Given the description of an element on the screen output the (x, y) to click on. 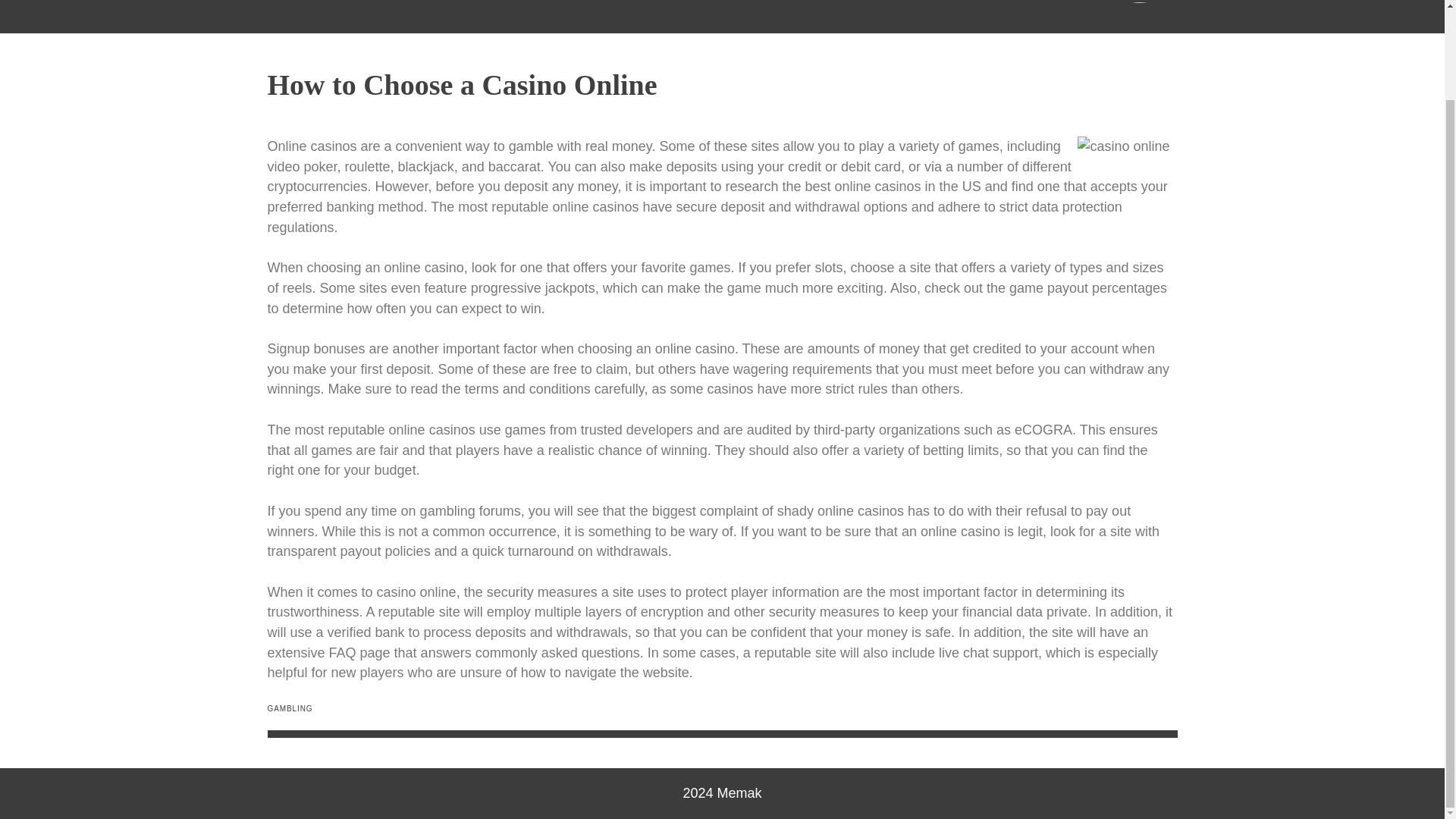
GAMBLING (289, 708)
